Given the description of an element on the screen output the (x, y) to click on. 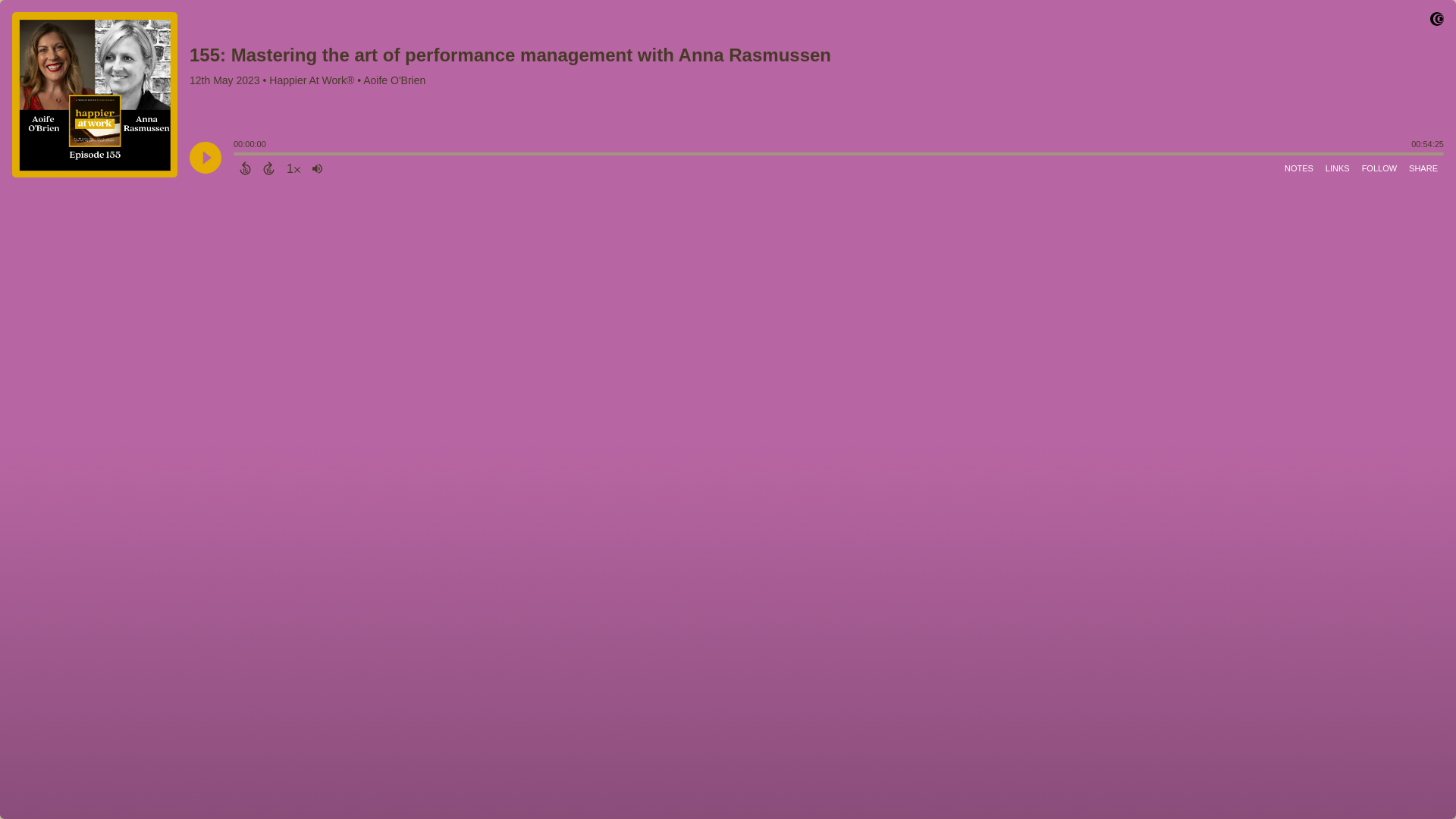
1 (293, 167)
LINKS (1337, 167)
NOTES (1298, 167)
SHARE (1423, 167)
FOLLOW (1379, 167)
